Given the description of an element on the screen output the (x, y) to click on. 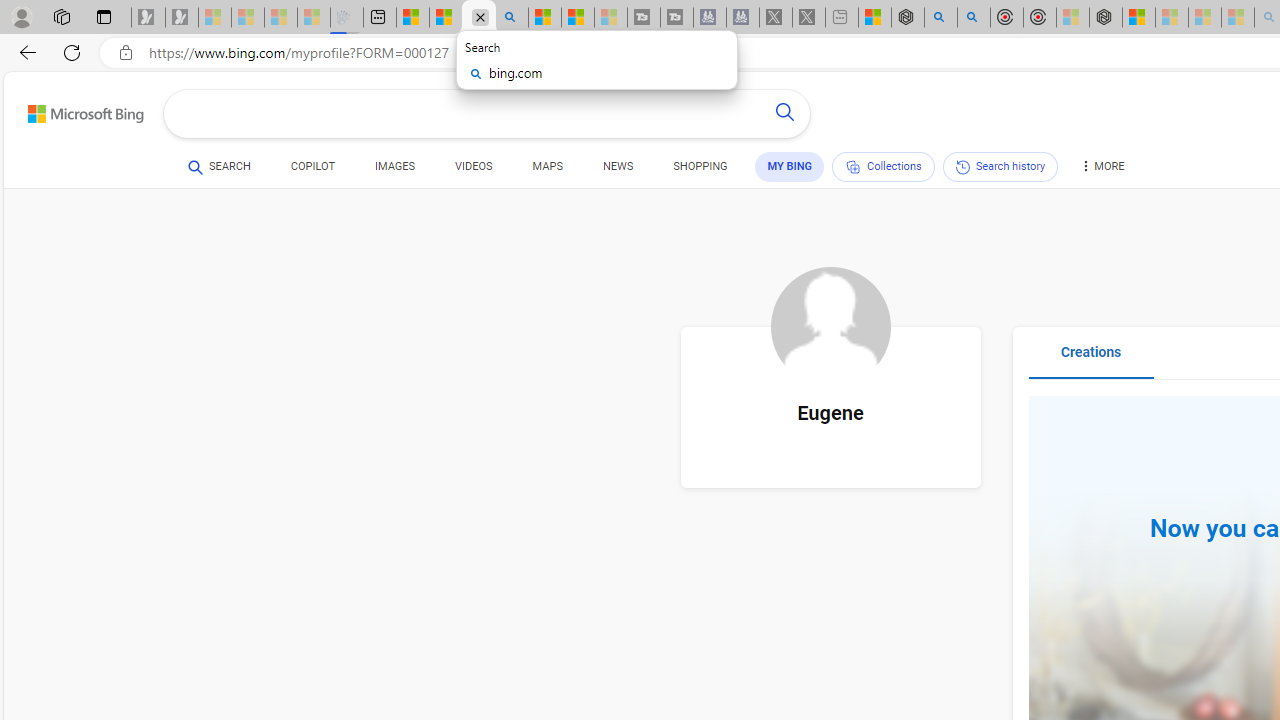
IMAGES (394, 169)
SEARCH (219, 167)
Streaming Coverage | T3 - Sleeping (644, 17)
COPILOT (311, 169)
Creations (1090, 360)
poe - Search (941, 17)
Search history (1000, 166)
To get missing image descriptions, open the context menu. (830, 327)
